Given the description of an element on the screen output the (x, y) to click on. 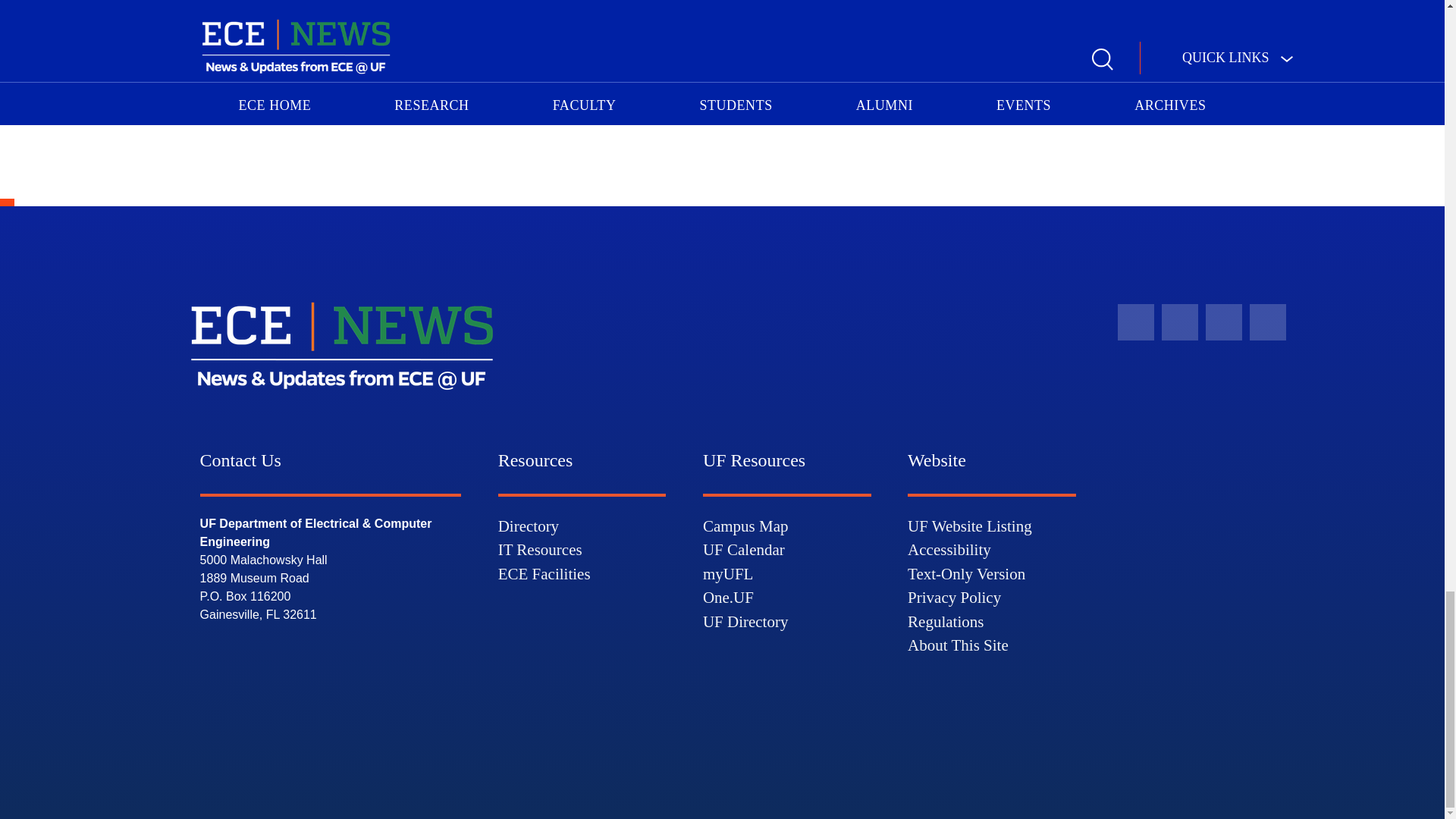
Instagram (1267, 321)
UF Calendar (743, 549)
ECE Welcomes Three New Faculty Members (660, 101)
UF Website Listing (969, 525)
ECE Facilities (544, 574)
Directory (528, 525)
IT Resources (539, 549)
myUFL (728, 574)
One.UF (728, 597)
Facebook (1136, 321)
